Given the description of an element on the screen output the (x, y) to click on. 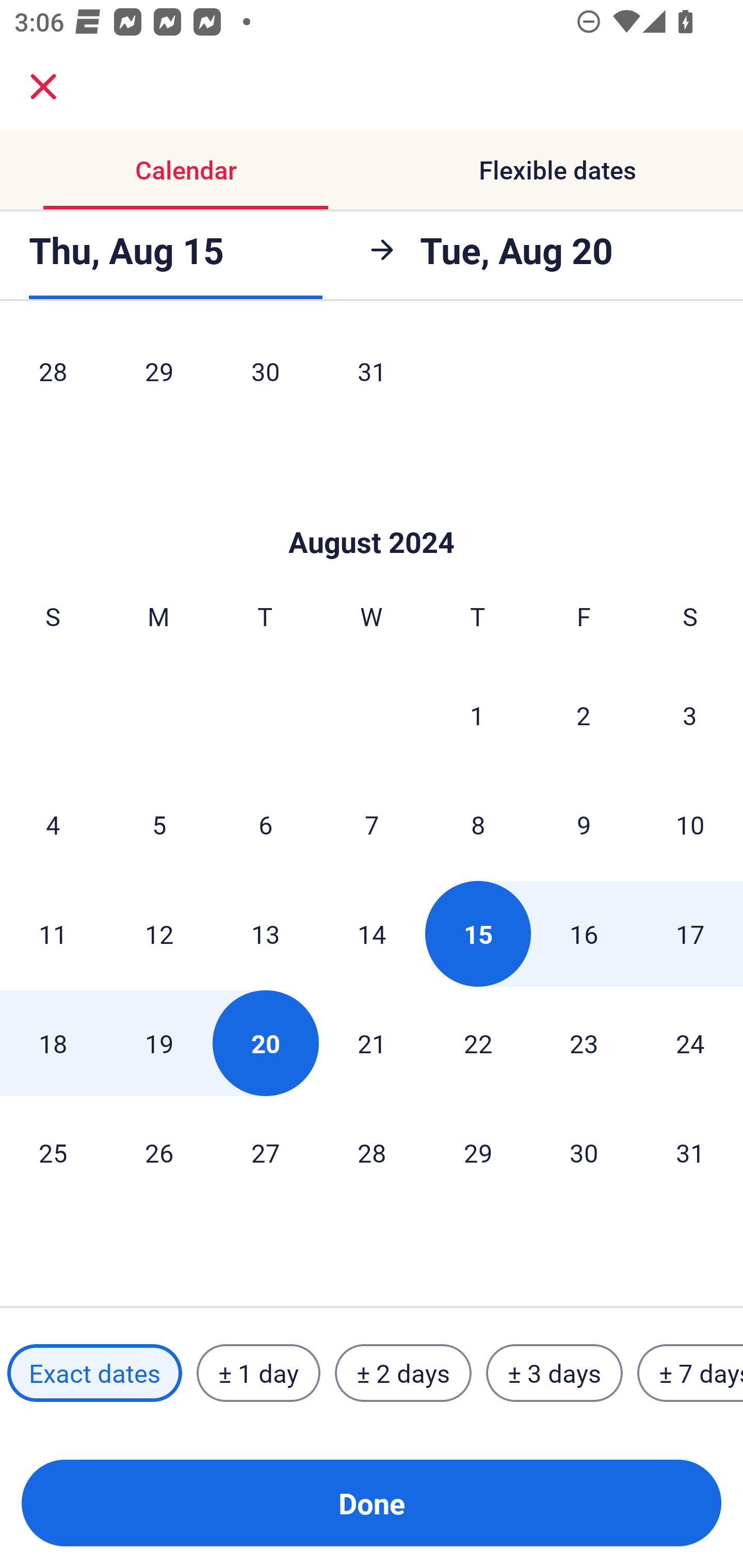
close. (43, 86)
Flexible dates (557, 170)
28 Sunday, July 28, 2024 (53, 376)
29 Monday, July 29, 2024 (159, 376)
30 Tuesday, July 30, 2024 (265, 376)
31 Wednesday, July 31, 2024 (371, 376)
Skip to Done (371, 511)
1 Thursday, August 1, 2024 (477, 714)
2 Friday, August 2, 2024 (583, 714)
3 Saturday, August 3, 2024 (689, 714)
4 Sunday, August 4, 2024 (53, 824)
5 Monday, August 5, 2024 (159, 824)
6 Tuesday, August 6, 2024 (265, 824)
7 Wednesday, August 7, 2024 (371, 824)
8 Thursday, August 8, 2024 (477, 824)
9 Friday, August 9, 2024 (584, 824)
10 Saturday, August 10, 2024 (690, 824)
11 Sunday, August 11, 2024 (53, 933)
12 Monday, August 12, 2024 (159, 933)
13 Tuesday, August 13, 2024 (265, 933)
14 Wednesday, August 14, 2024 (371, 933)
21 Wednesday, August 21, 2024 (371, 1043)
22 Thursday, August 22, 2024 (477, 1043)
23 Friday, August 23, 2024 (584, 1043)
24 Saturday, August 24, 2024 (690, 1043)
25 Sunday, August 25, 2024 (53, 1152)
26 Monday, August 26, 2024 (159, 1152)
27 Tuesday, August 27, 2024 (265, 1152)
28 Wednesday, August 28, 2024 (371, 1152)
29 Thursday, August 29, 2024 (477, 1152)
30 Friday, August 30, 2024 (584, 1152)
31 Saturday, August 31, 2024 (690, 1152)
Exact dates (94, 1372)
± 1 day (258, 1372)
± 2 days (403, 1372)
± 3 days (553, 1372)
± 7 days (690, 1372)
Done (371, 1502)
